Given the description of an element on the screen output the (x, y) to click on. 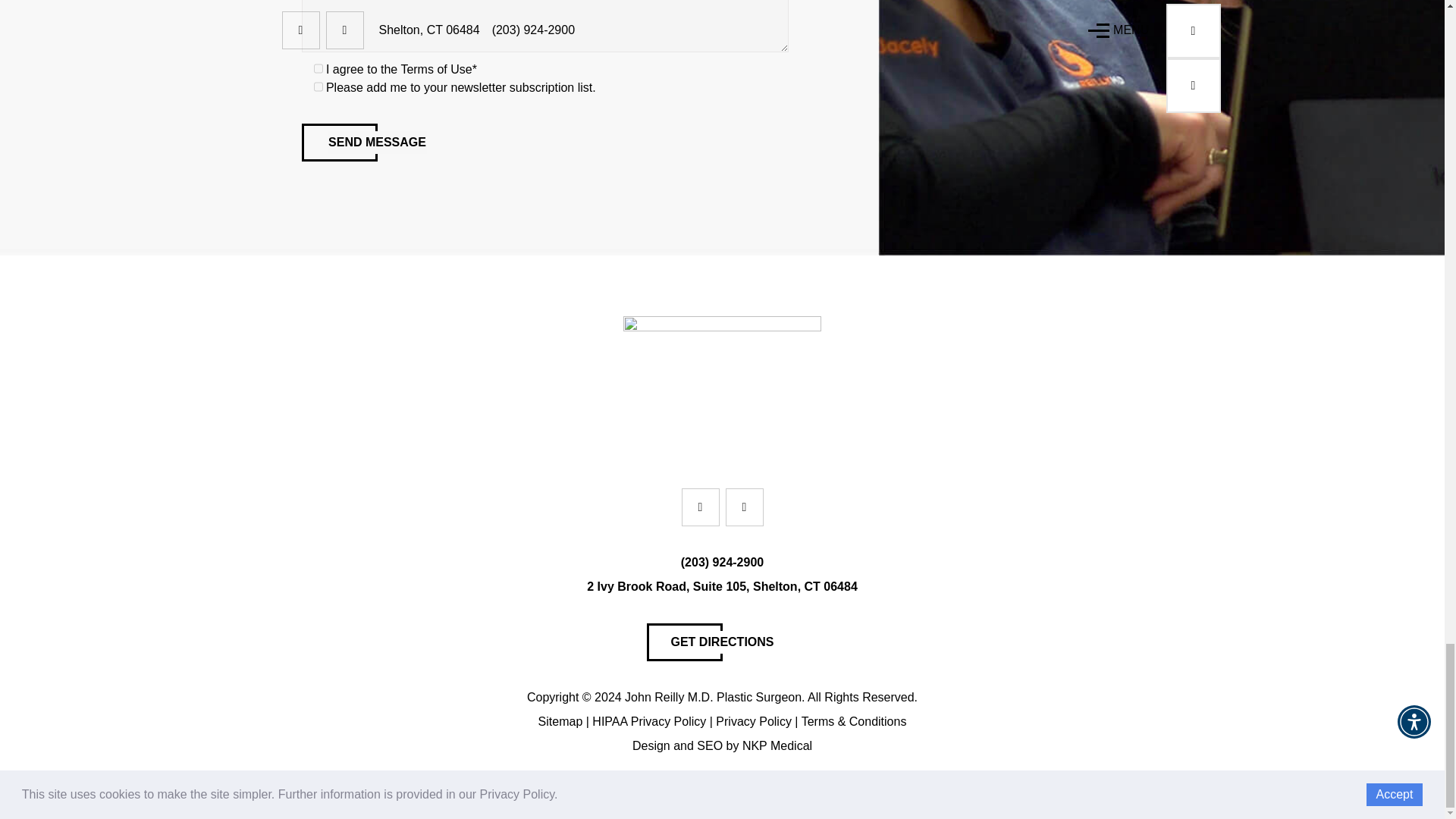
1 (318, 67)
1 (318, 85)
